Given the description of an element on the screen output the (x, y) to click on. 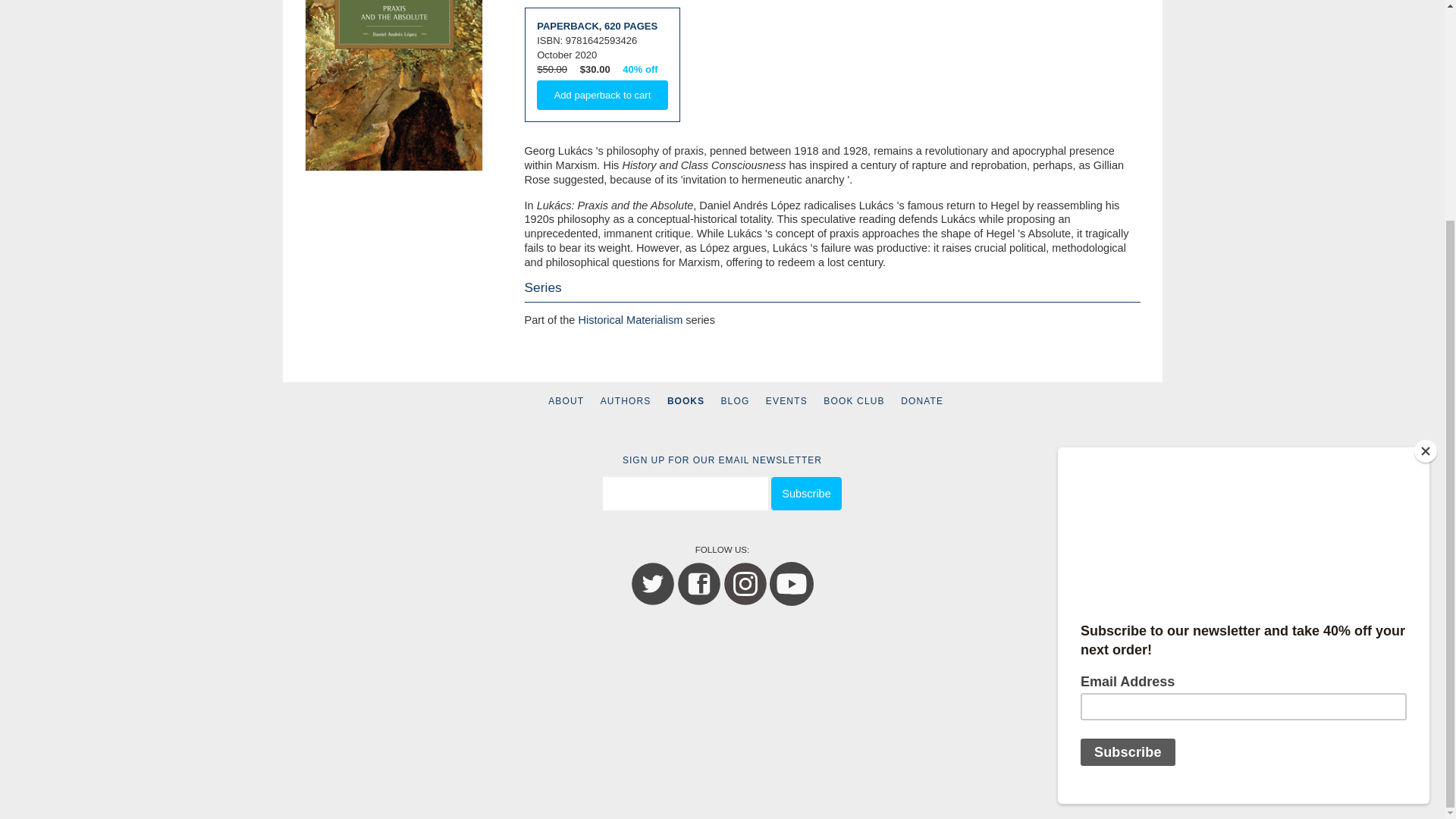
Historical Materialism (630, 319)
Subscribe (806, 493)
EVENTS (786, 399)
BLOG (734, 399)
PAPERBACK (567, 25)
AUTHORS (624, 399)
BOOK CLUB (853, 399)
620 PAGES (631, 25)
Add paperback to cart (602, 94)
Add paperback to cart (602, 94)
DONATE (922, 399)
ABOUT (565, 399)
Subscribe (806, 493)
BOOKS (685, 399)
